Given the description of an element on the screen output the (x, y) to click on. 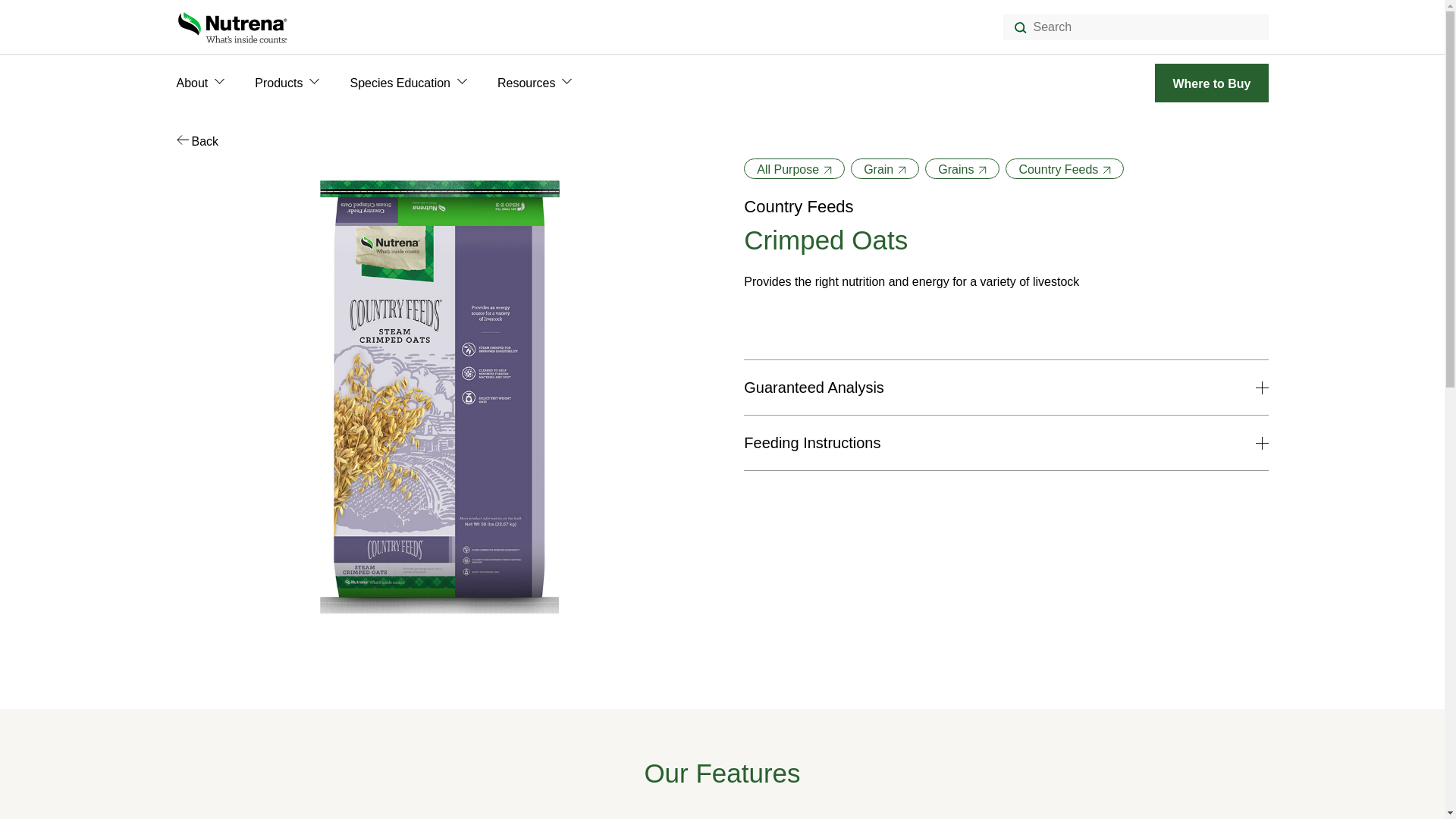
Where to Buy (1211, 82)
About (192, 82)
Species Education (399, 82)
Products (278, 82)
Resources (525, 82)
